Given the description of an element on the screen output the (x, y) to click on. 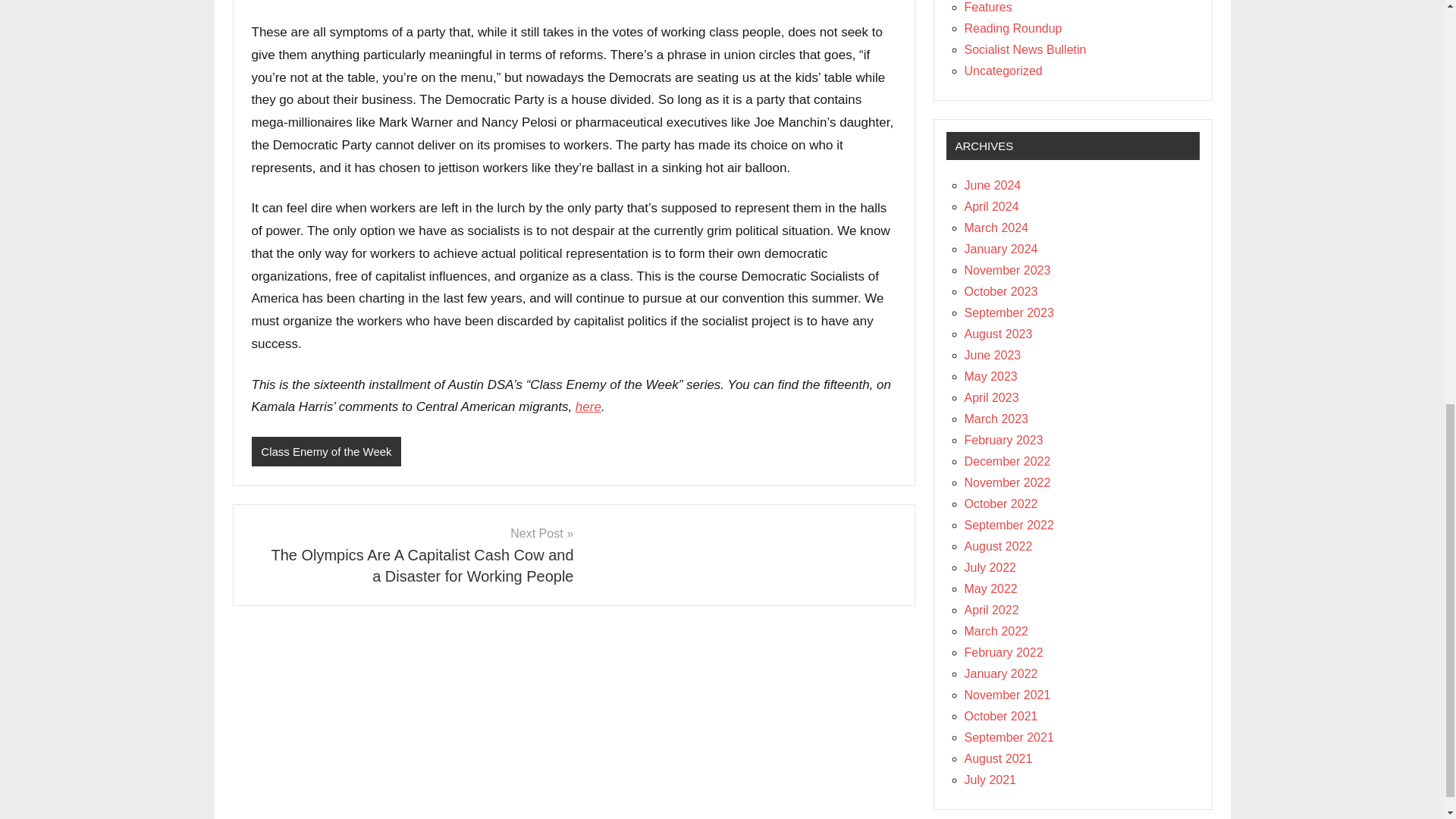
August 2023 (997, 333)
March 2024 (996, 227)
November 2023 (1007, 269)
Socialist News Bulletin (1024, 49)
Reading Roundup (1012, 28)
Features (987, 6)
January 2024 (1000, 248)
Uncategorized (1002, 70)
here (588, 406)
April 2024 (991, 205)
June 2023 (992, 354)
October 2023 (1000, 291)
September 2023 (1008, 312)
Class Enemy of the Week (326, 451)
